Given the description of an element on the screen output the (x, y) to click on. 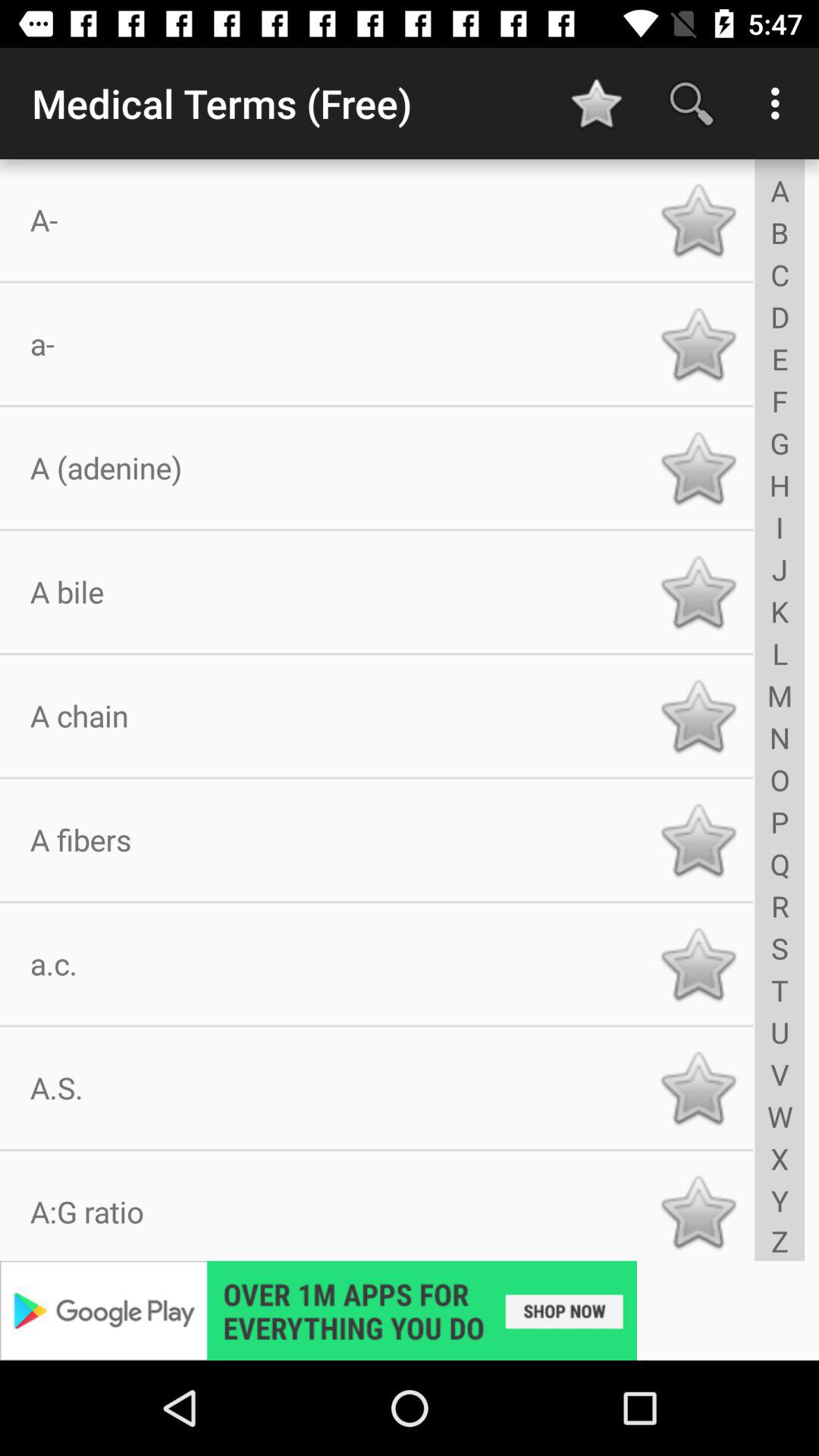
bookmark (697, 220)
